Given the description of an element on the screen output the (x, y) to click on. 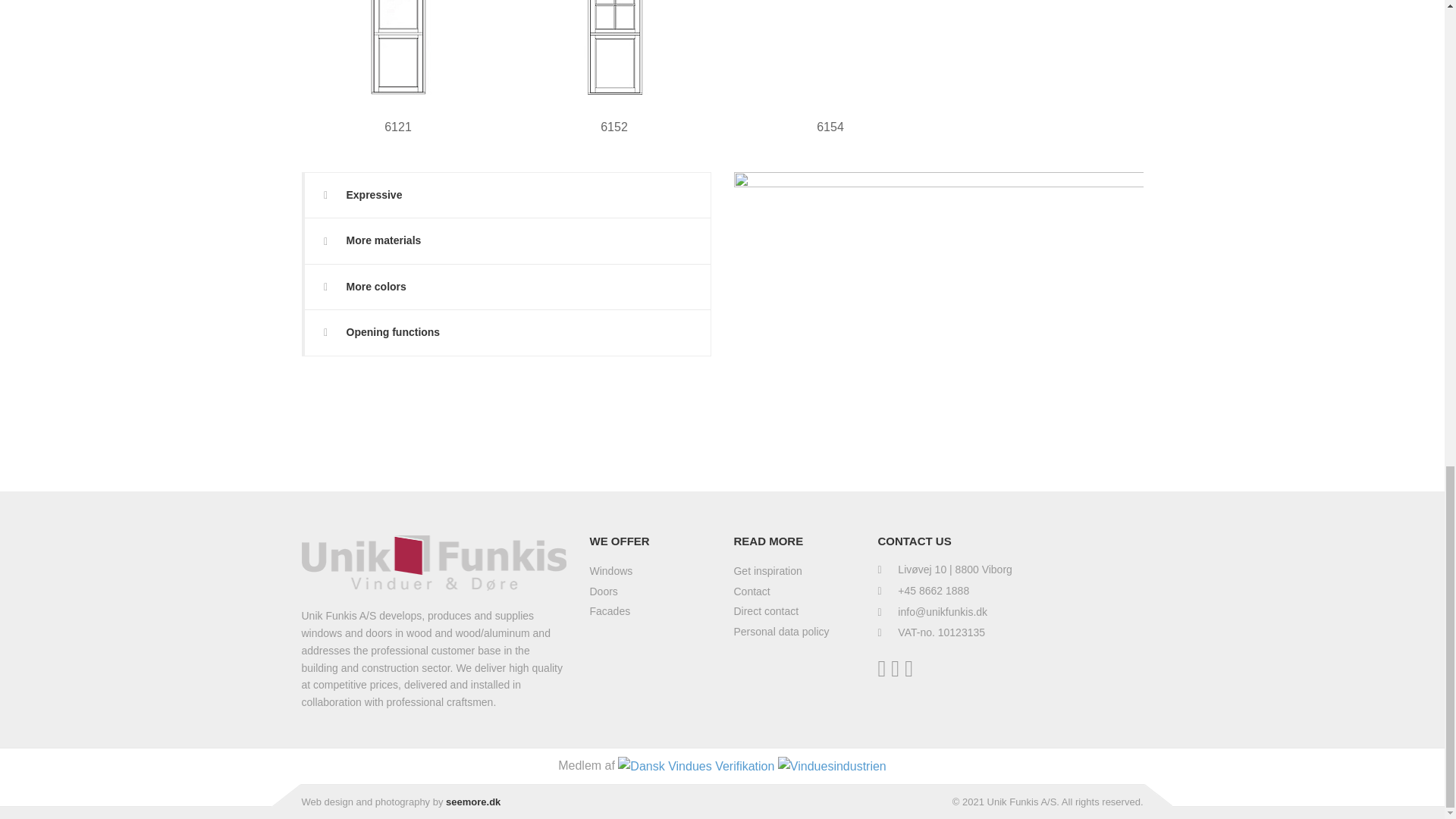
6121 (397, 47)
6154 (829, 47)
6152 (614, 47)
